Given the description of an element on the screen output the (x, y) to click on. 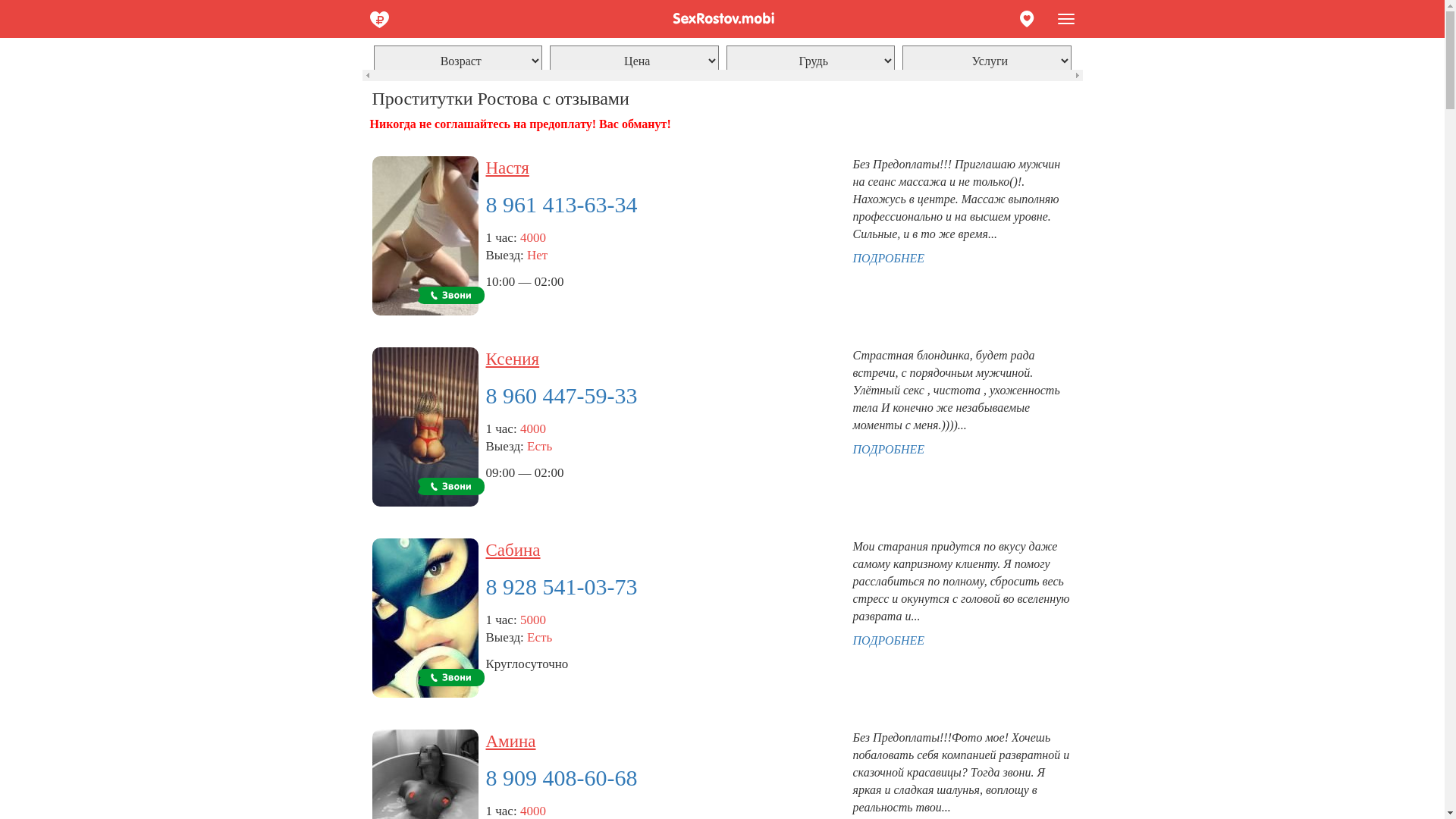
8 961 413-63-34 Element type: hover (424, 235)
8 909 408-60-68 Element type: text (561, 777)
8 960 447-59-33 Element type: hover (424, 426)
8 928 541-03-73 Element type: text (561, 586)
8 960 447-59-33 Element type: text (561, 394)
8 961 413-63-34 Element type: text (561, 203)
8 928 541-03-73 Element type: hover (424, 617)
